Given the description of an element on the screen output the (x, y) to click on. 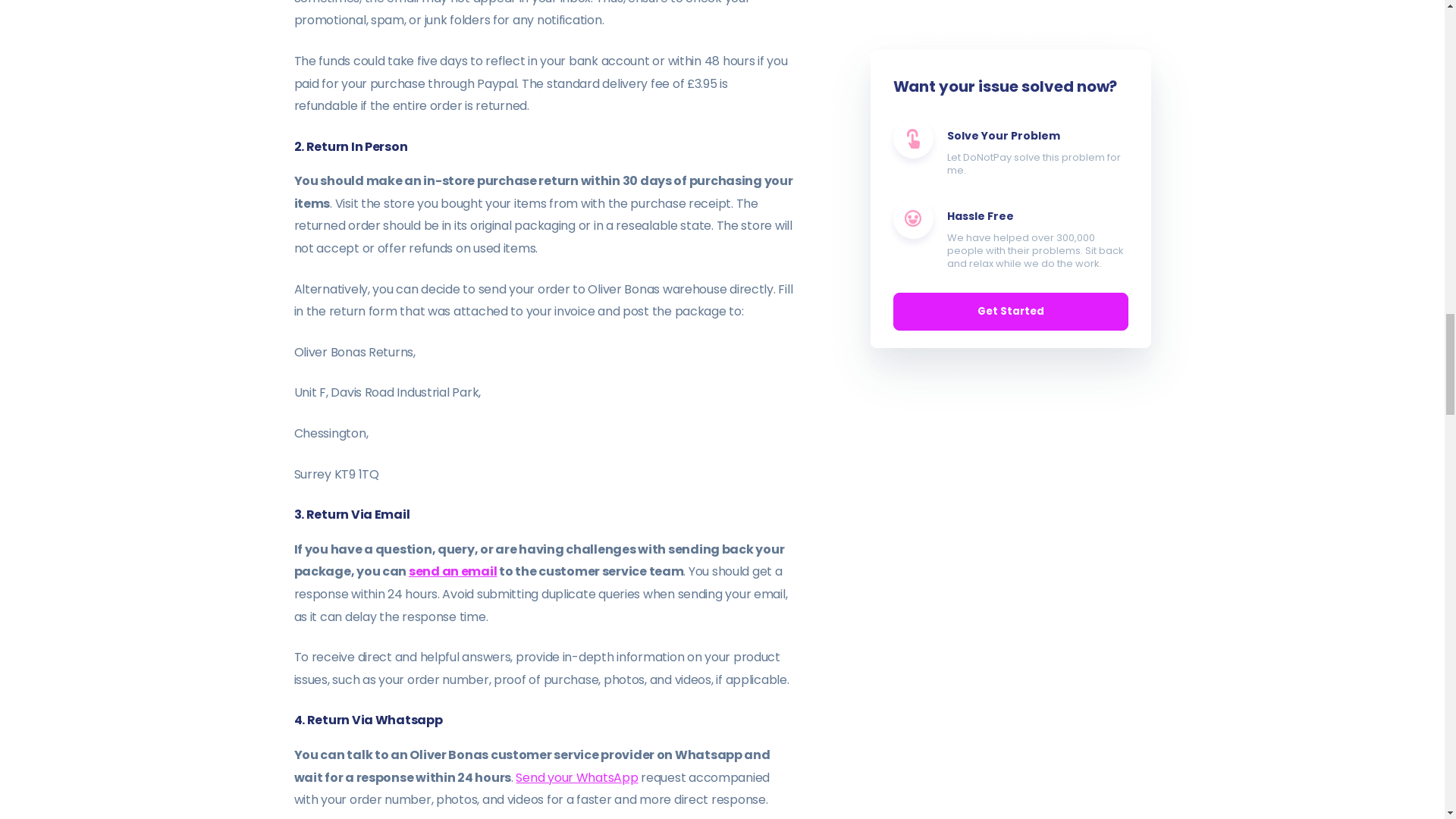
Send your WhatsApp (576, 777)
send an email (452, 570)
